Given the description of an element on the screen output the (x, y) to click on. 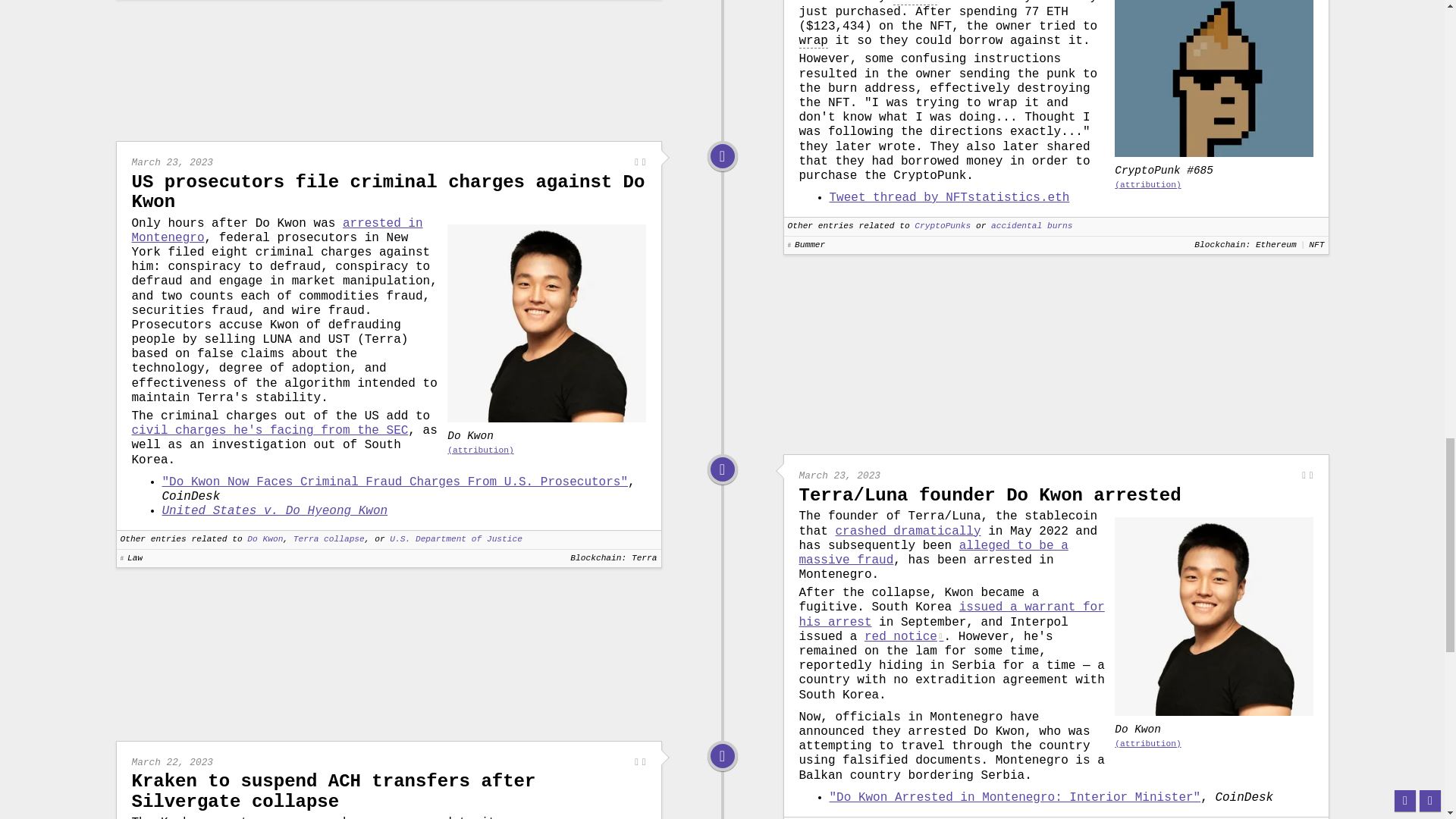
Law (721, 156)
